Given the description of an element on the screen output the (x, y) to click on. 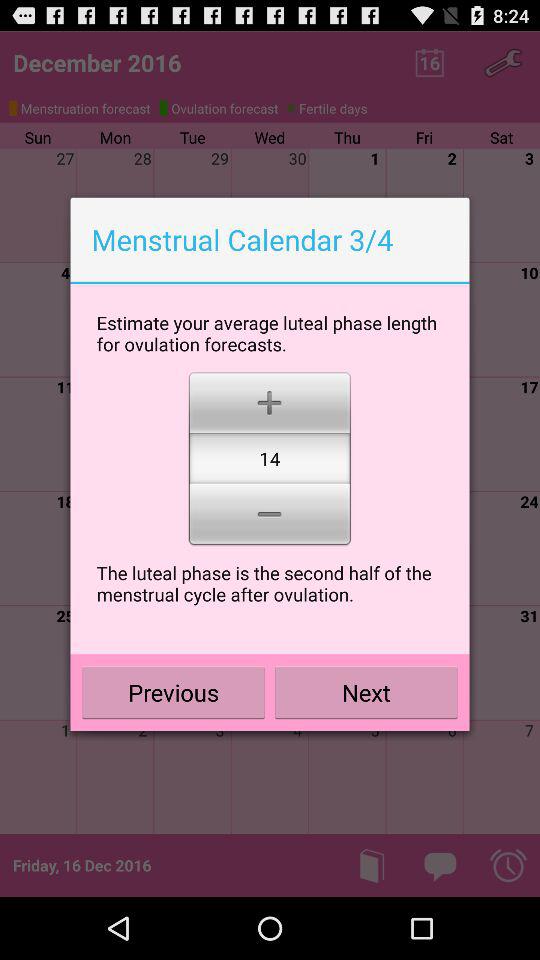
choose the icon at the bottom right corner (366, 692)
